Given the description of an element on the screen output the (x, y) to click on. 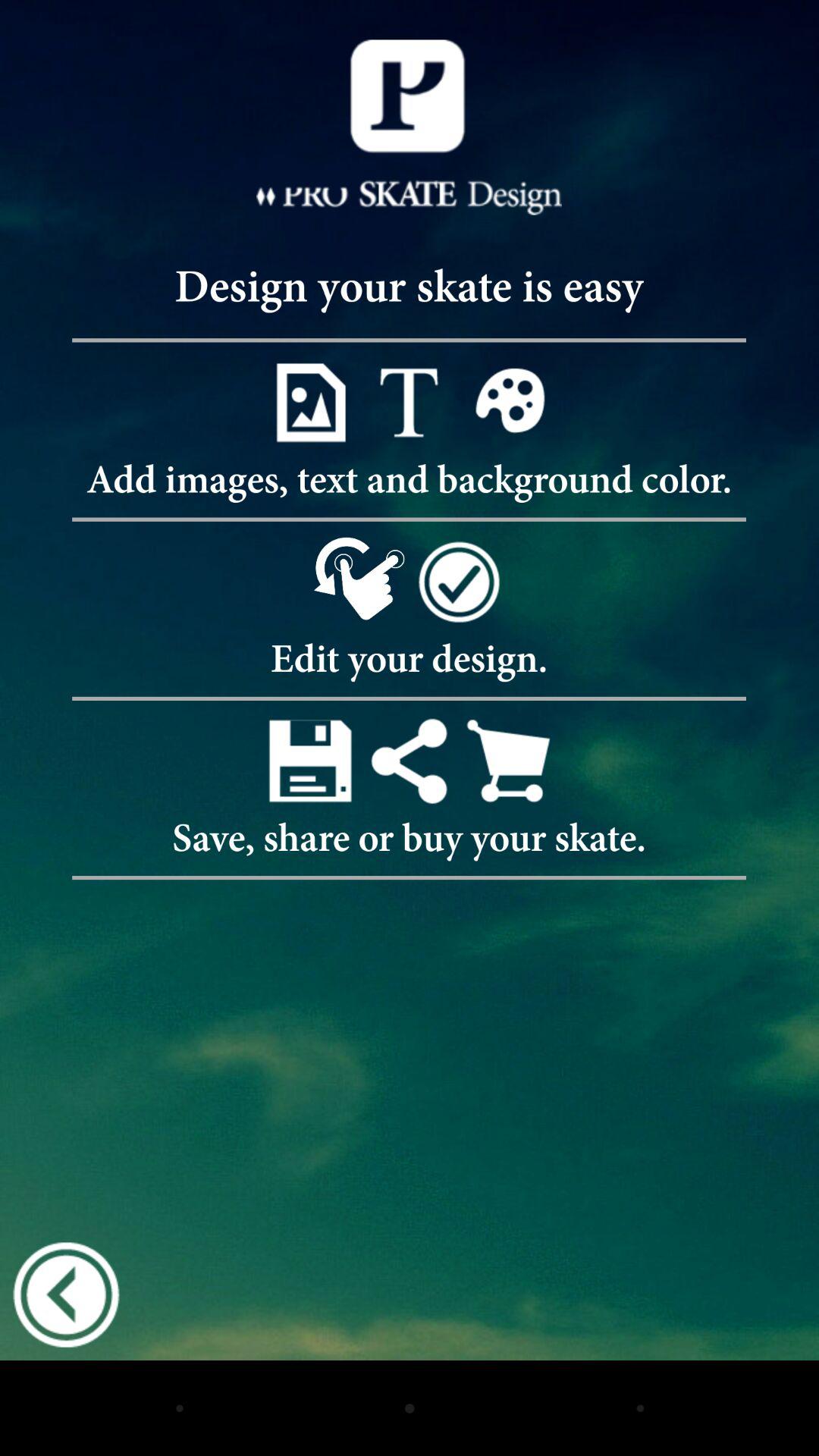
open background color option (508, 402)
